Given the description of an element on the screen output the (x, y) to click on. 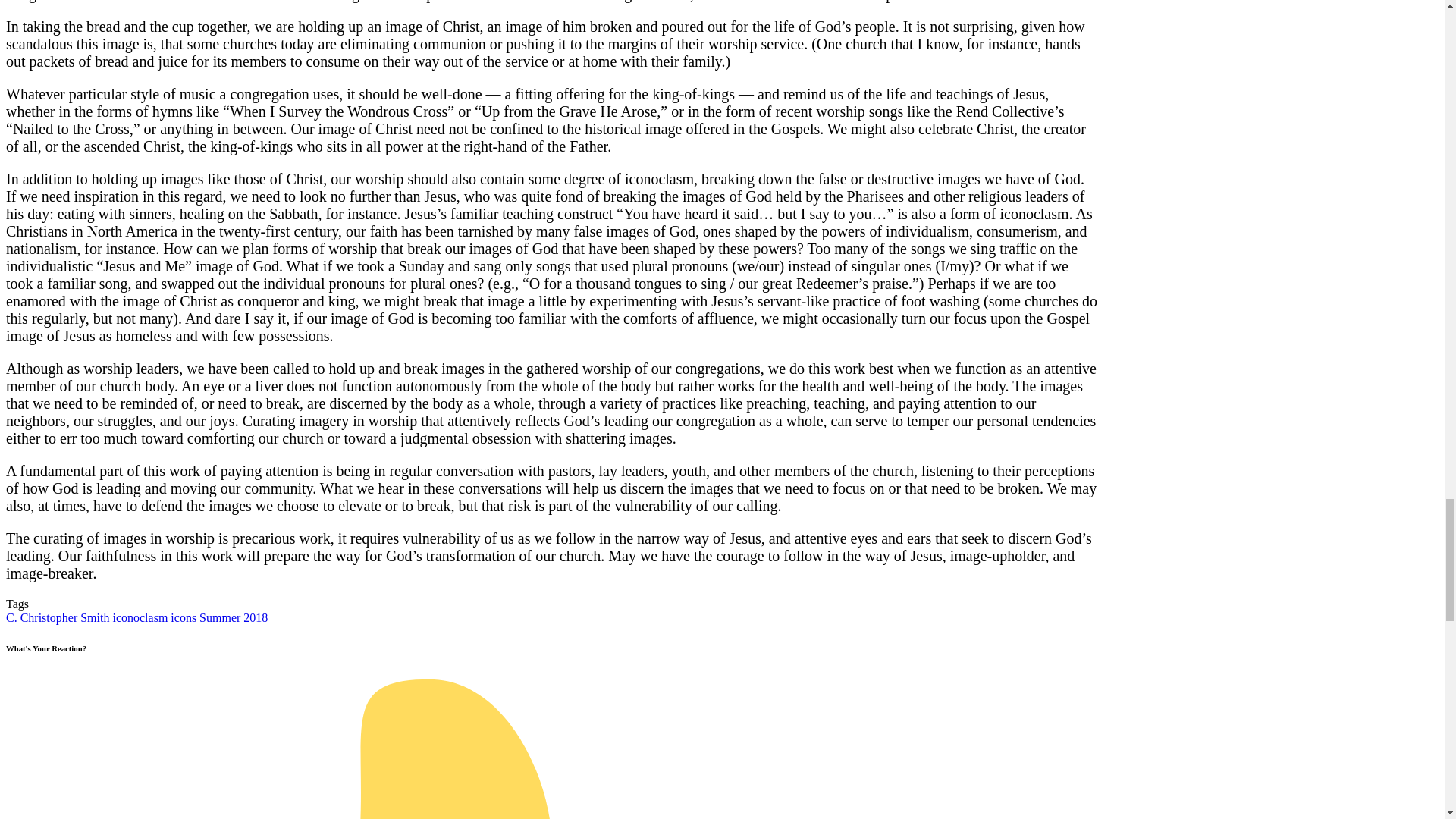
Summer 2018 (233, 617)
C. Christopher Smith (57, 617)
icons (183, 617)
iconoclasm (139, 617)
